Given the description of an element on the screen output the (x, y) to click on. 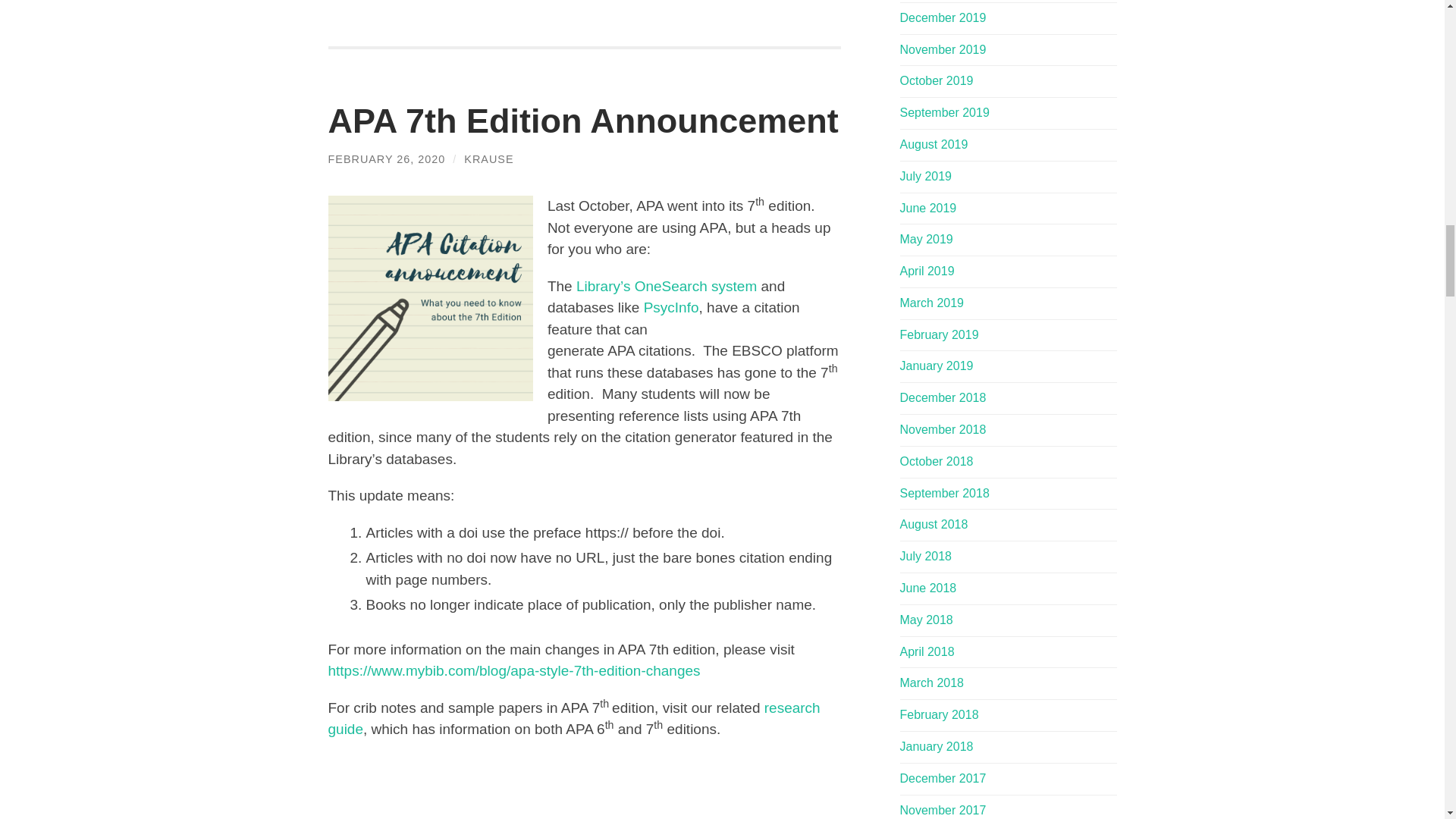
research guide (573, 718)
PsycInfo (670, 307)
Posts by Krause (488, 159)
KRAUSE (488, 159)
FEBRUARY 26, 2020 (386, 159)
APA 7th Edition Announcement (582, 120)
